Given the description of an element on the screen output the (x, y) to click on. 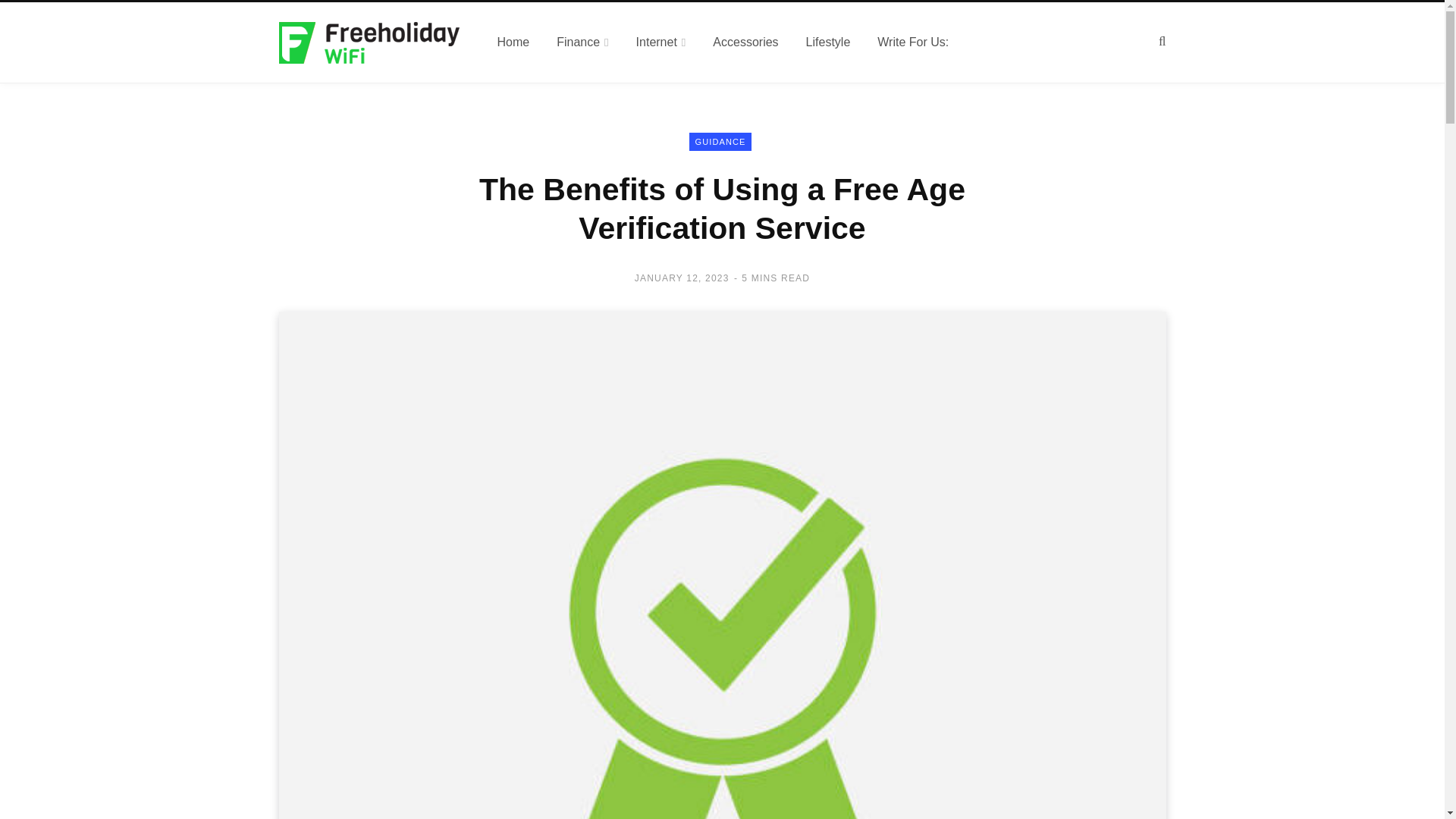
Accessories (745, 41)
GUIDANCE (720, 141)
JANUARY 12, 2023 (681, 277)
Internet (661, 41)
FreeHolidayWiFi (370, 42)
Lifestyle (828, 41)
Write For Us: (912, 41)
Finance (582, 41)
Search (1162, 41)
Home (513, 41)
